Given the description of an element on the screen output the (x, y) to click on. 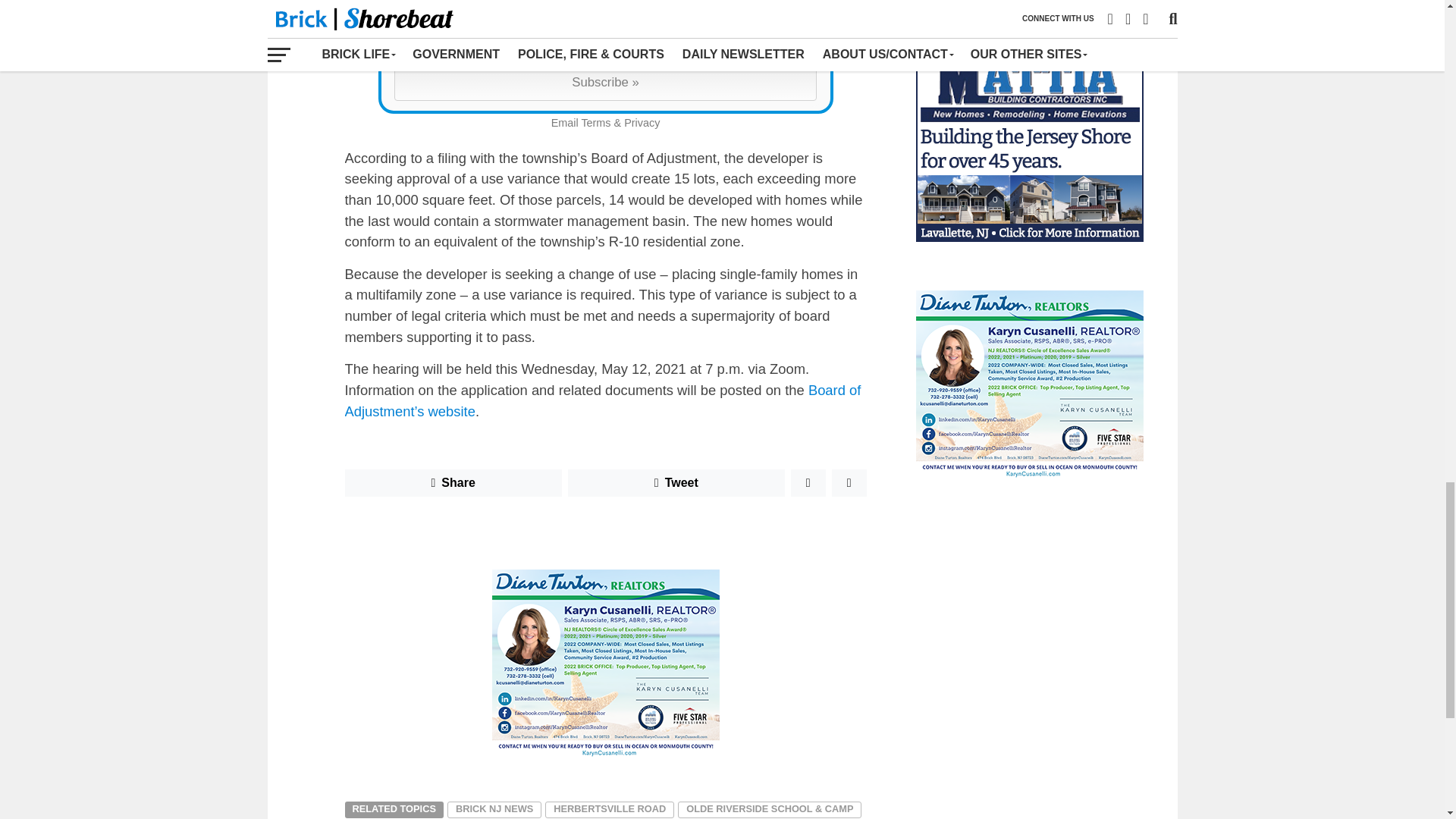
Email subscriptions privacy policy (641, 122)
How can we reach you? (604, 41)
click to join (605, 81)
Email subscriptions terms of service (595, 122)
